Given the description of an element on the screen output the (x, y) to click on. 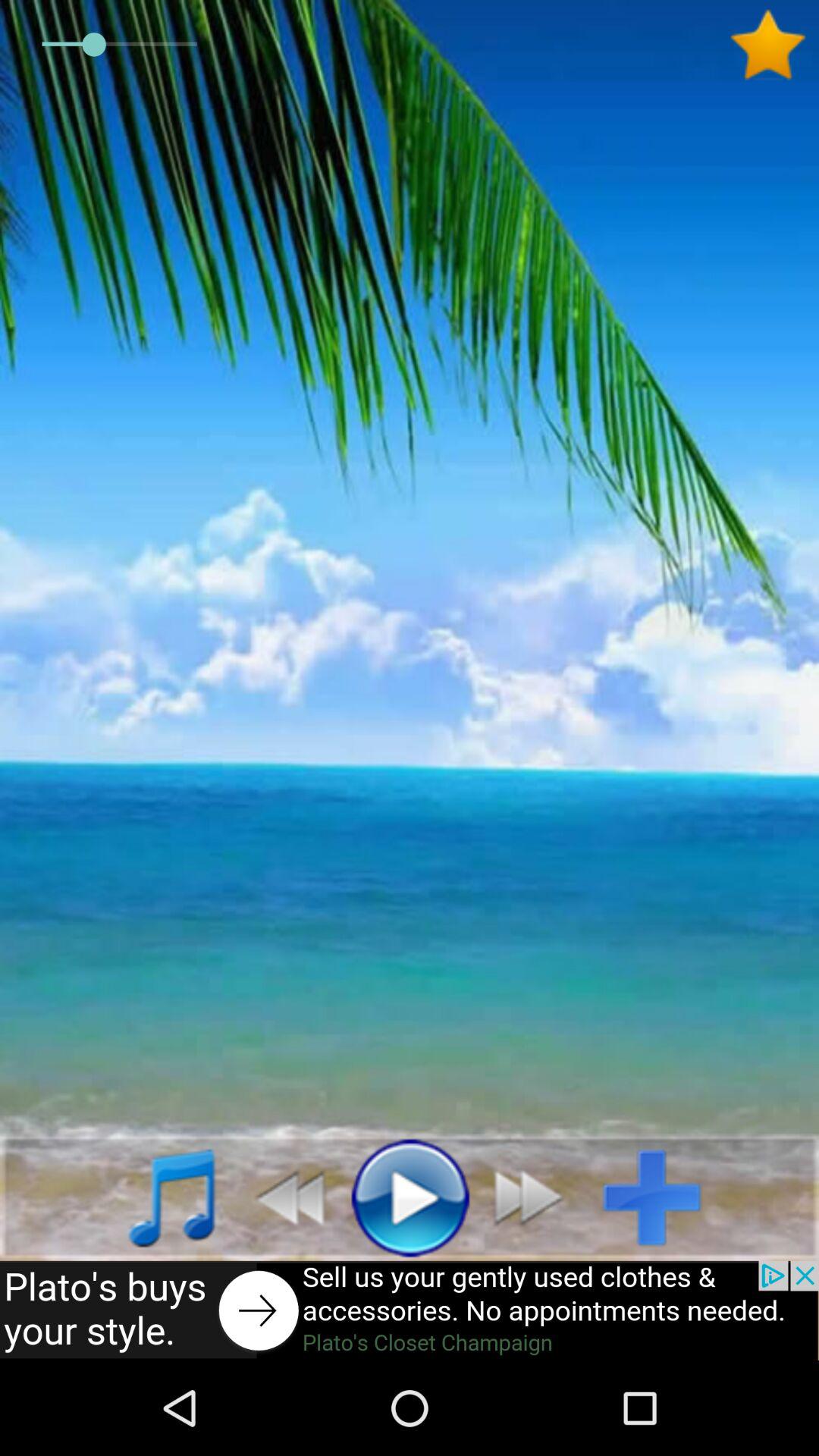
advertisement (409, 1310)
